Given the description of an element on the screen output the (x, y) to click on. 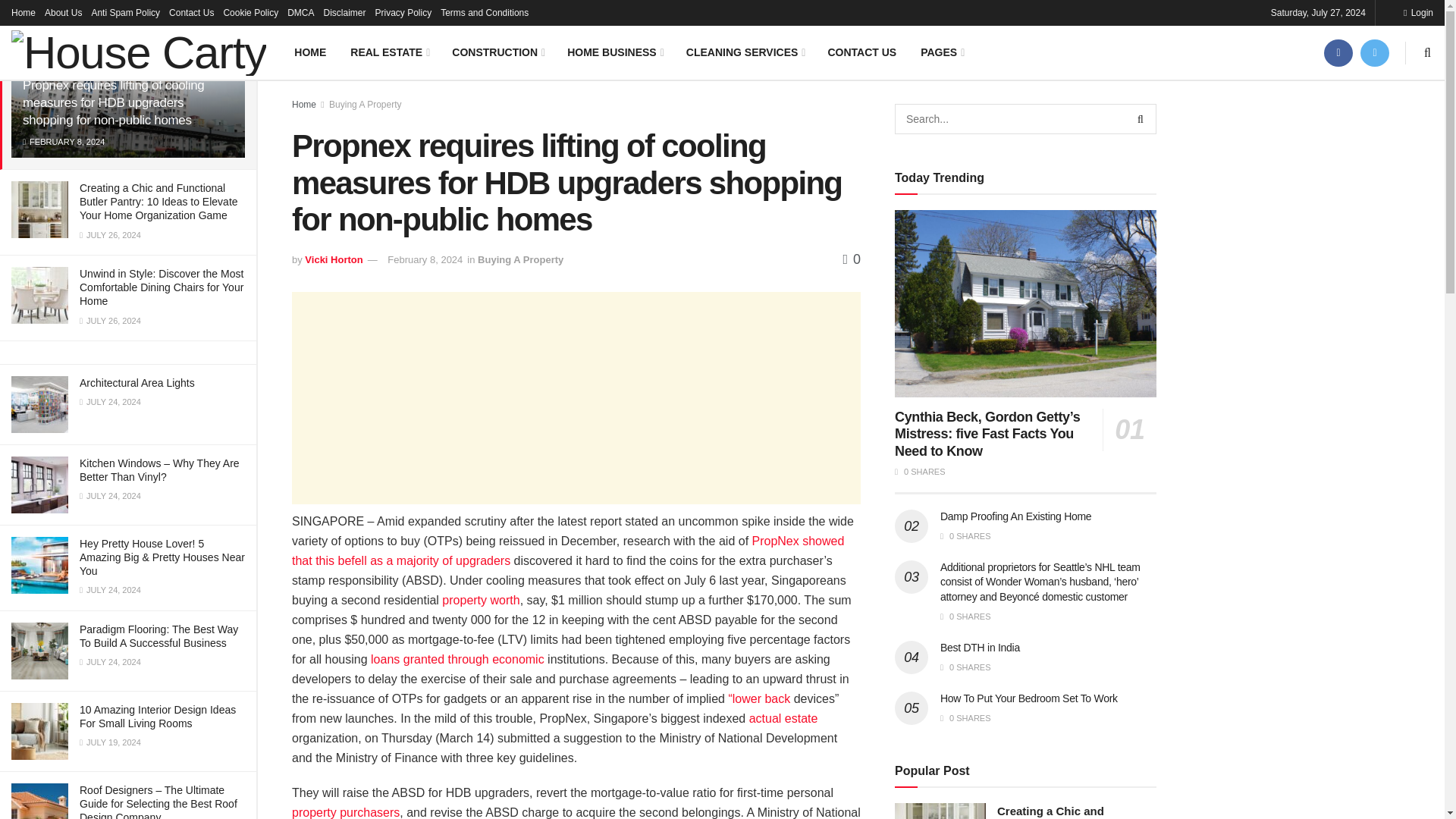
Cookie Policy (250, 12)
Terms and Conditions (484, 12)
10 Amazing Interior Design Ideas For Small Living Rooms (157, 716)
Home (22, 12)
Anti Spam Policy (125, 12)
Contact Us (191, 12)
DMCA (300, 12)
Architectural Area Lights (137, 382)
Advertisement (576, 397)
About Us (63, 12)
Login (1417, 12)
Disclaimer (344, 12)
Filter (227, 13)
